Given the description of an element on the screen output the (x, y) to click on. 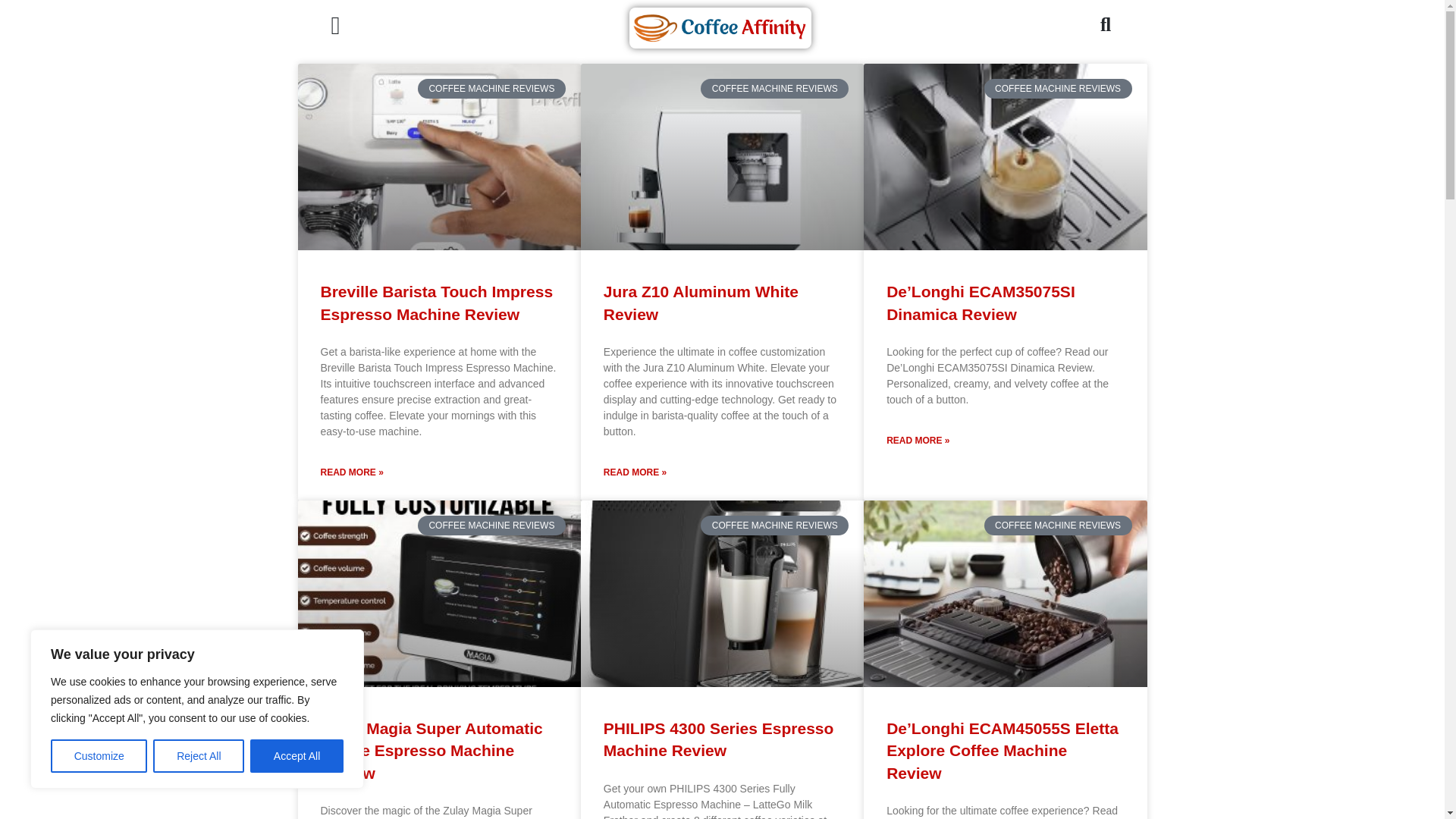
Customize (98, 756)
Jura Z10 Aluminum White Review (700, 302)
PHILIPS 4300 Series Espresso Machine Review (719, 739)
Accept All (296, 756)
Breville Barista Touch Impress Espresso Machine Review (436, 302)
Reject All (198, 756)
Zulay Magia Super Automatic Coffee Espresso Machine Review (430, 750)
